Given the description of an element on the screen output the (x, y) to click on. 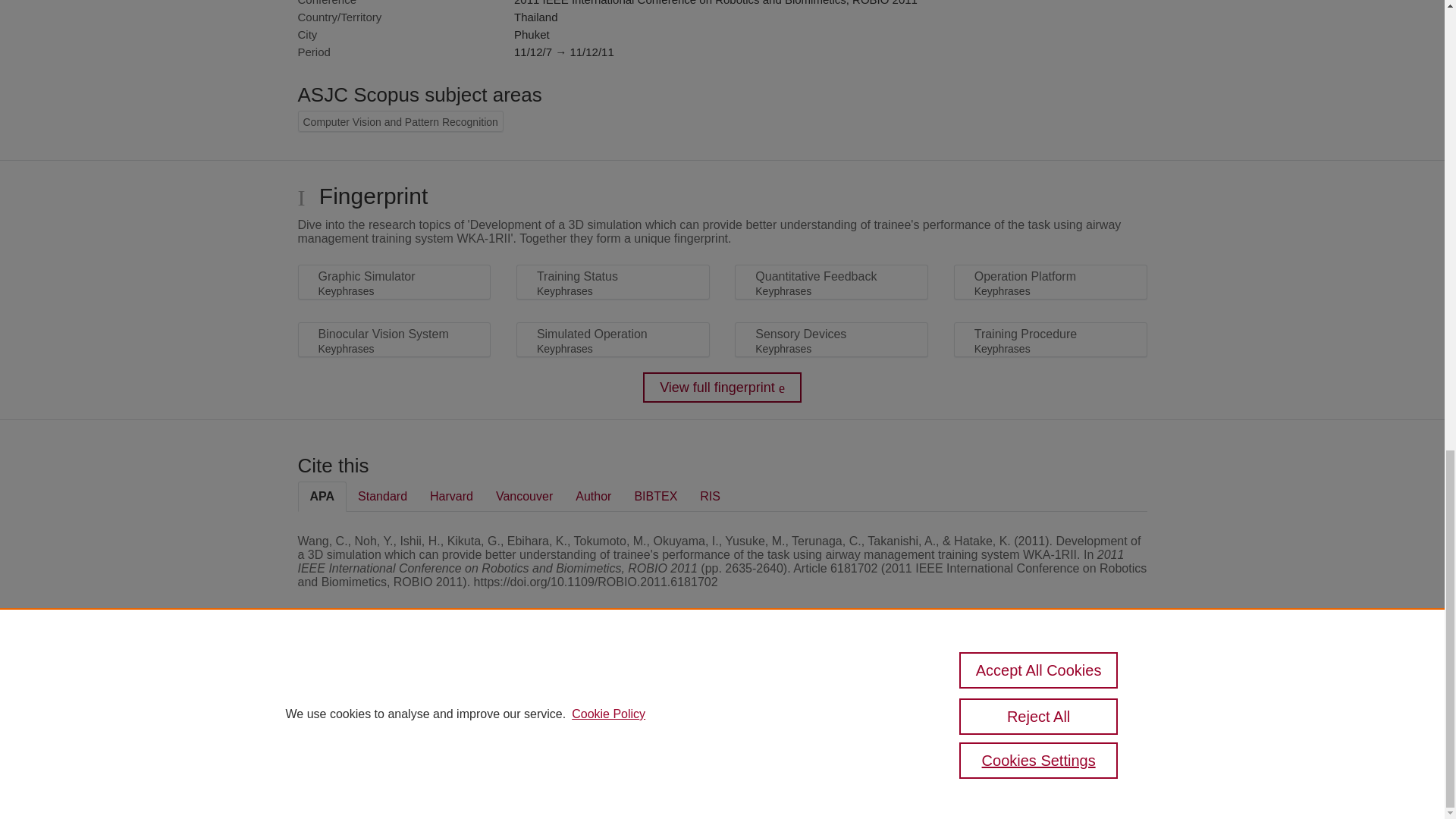
About web accessibility (1088, 693)
View full fingerprint (722, 387)
Pure (362, 687)
Cookies Settings (334, 761)
Log in to Pure (327, 781)
use of cookies (796, 740)
Scopus (394, 687)
Elsevier B.V. (506, 708)
